Given the description of an element on the screen output the (x, y) to click on. 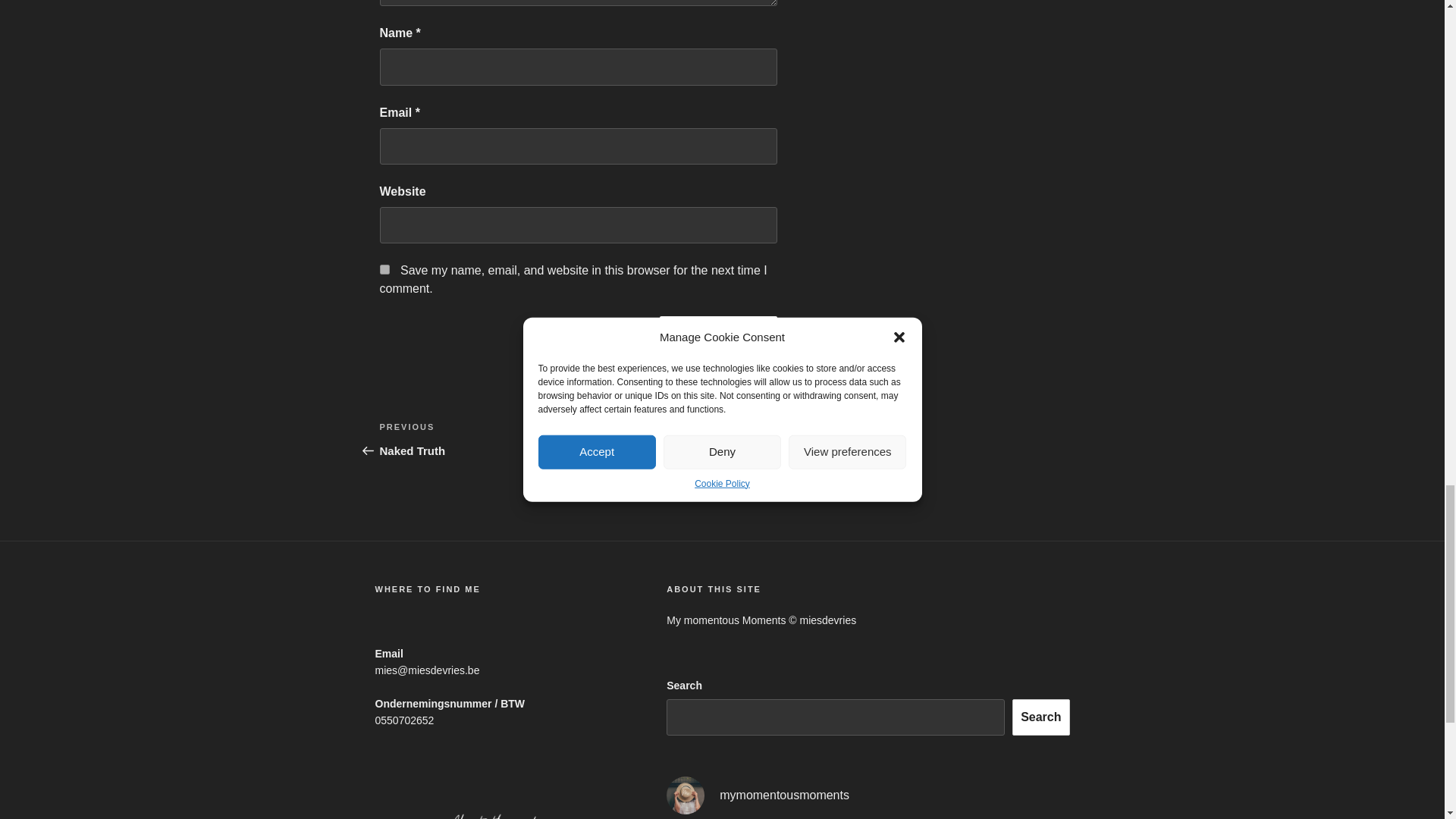
Search (1039, 717)
Post Comment (478, 438)
Post Comment (718, 332)
yes (718, 332)
mymomentousmoments (383, 269)
